Given the description of an element on the screen output the (x, y) to click on. 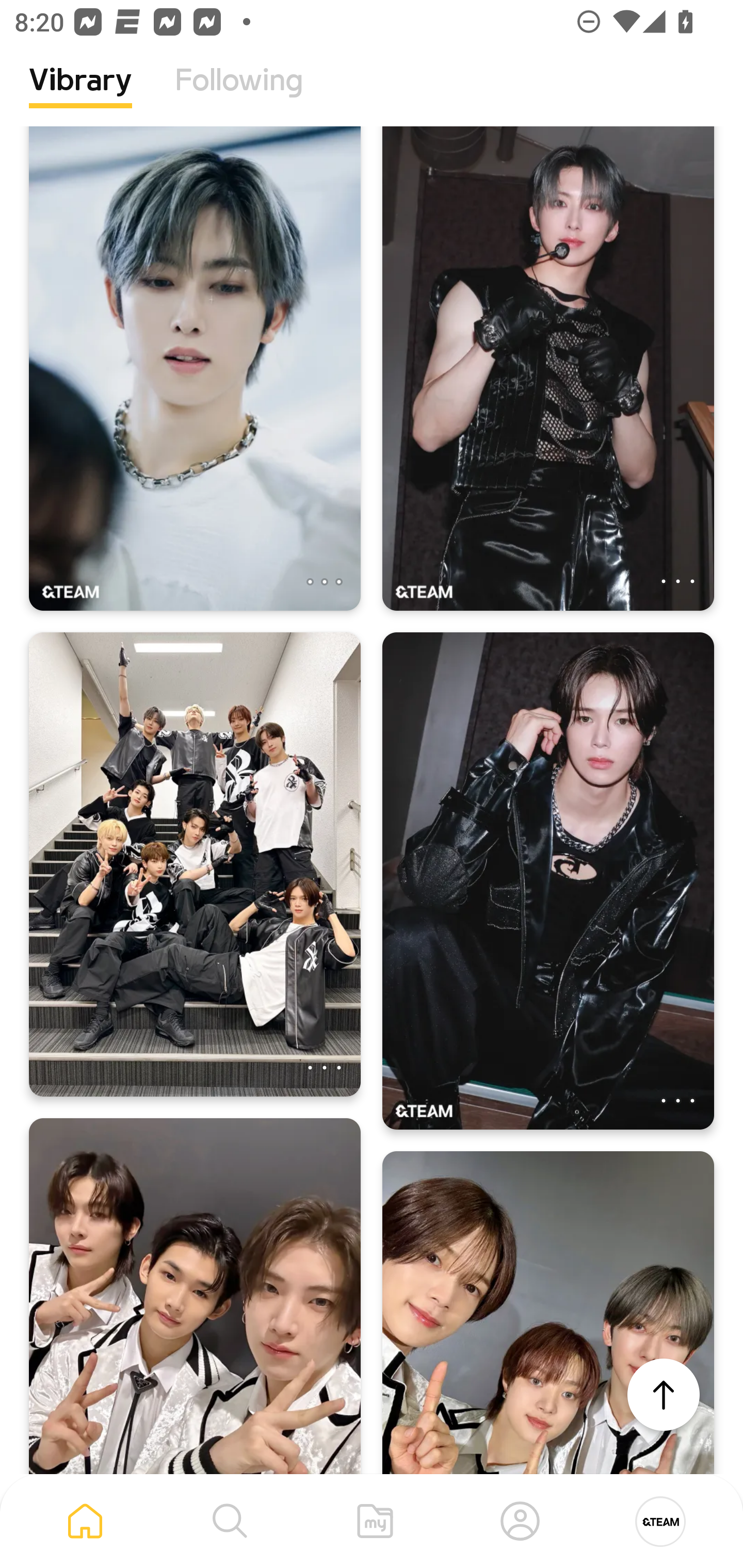
Vibrary (80, 95)
Following (239, 95)
